Given the description of an element on the screen output the (x, y) to click on. 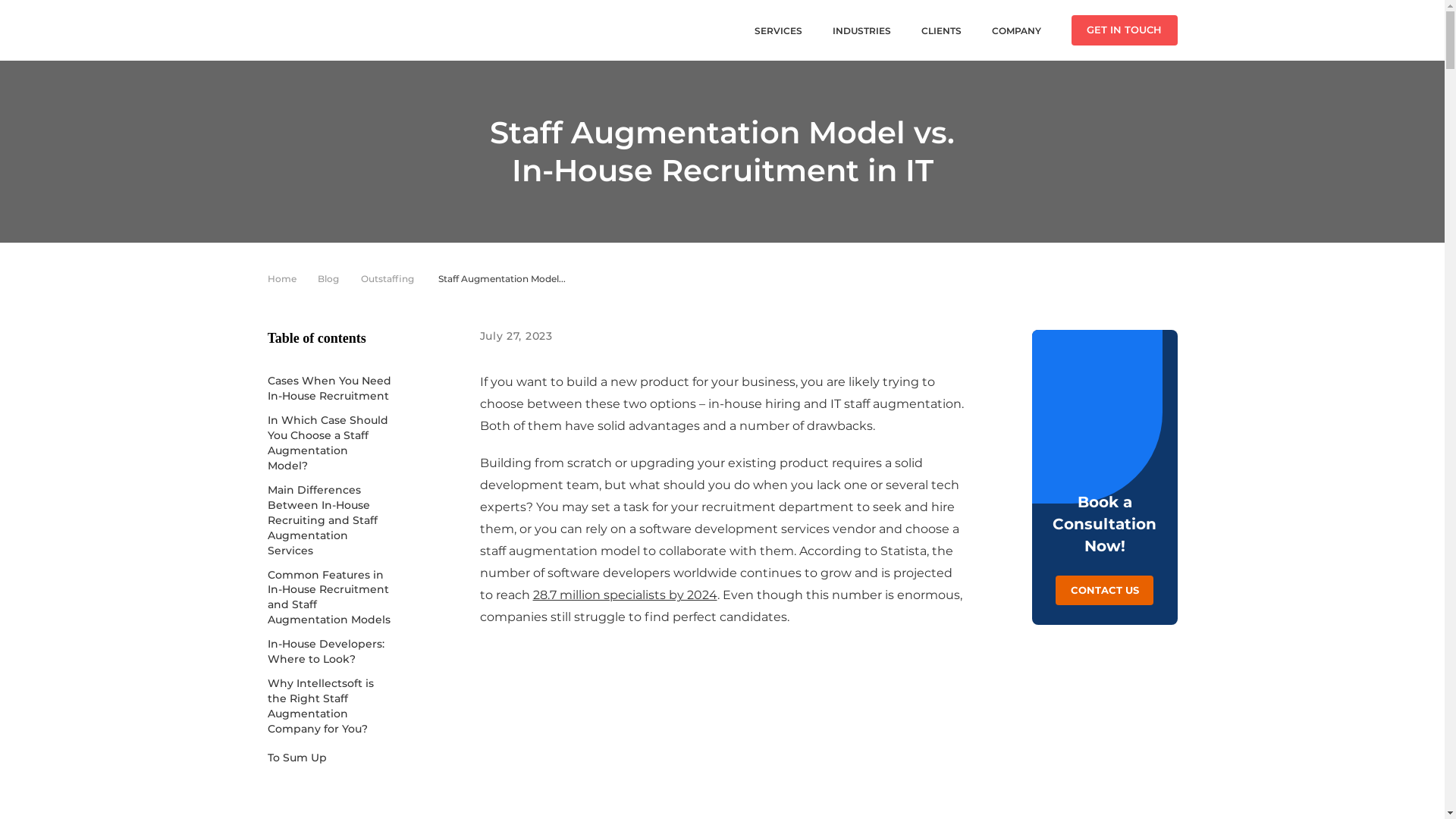
COMPANY (1016, 30)
CLIENTS (940, 30)
INDUSTRIES (860, 30)
GET IN TOUCH (1123, 30)
SERVICES (777, 30)
Contact us (1104, 590)
